Given the description of an element on the screen output the (x, y) to click on. 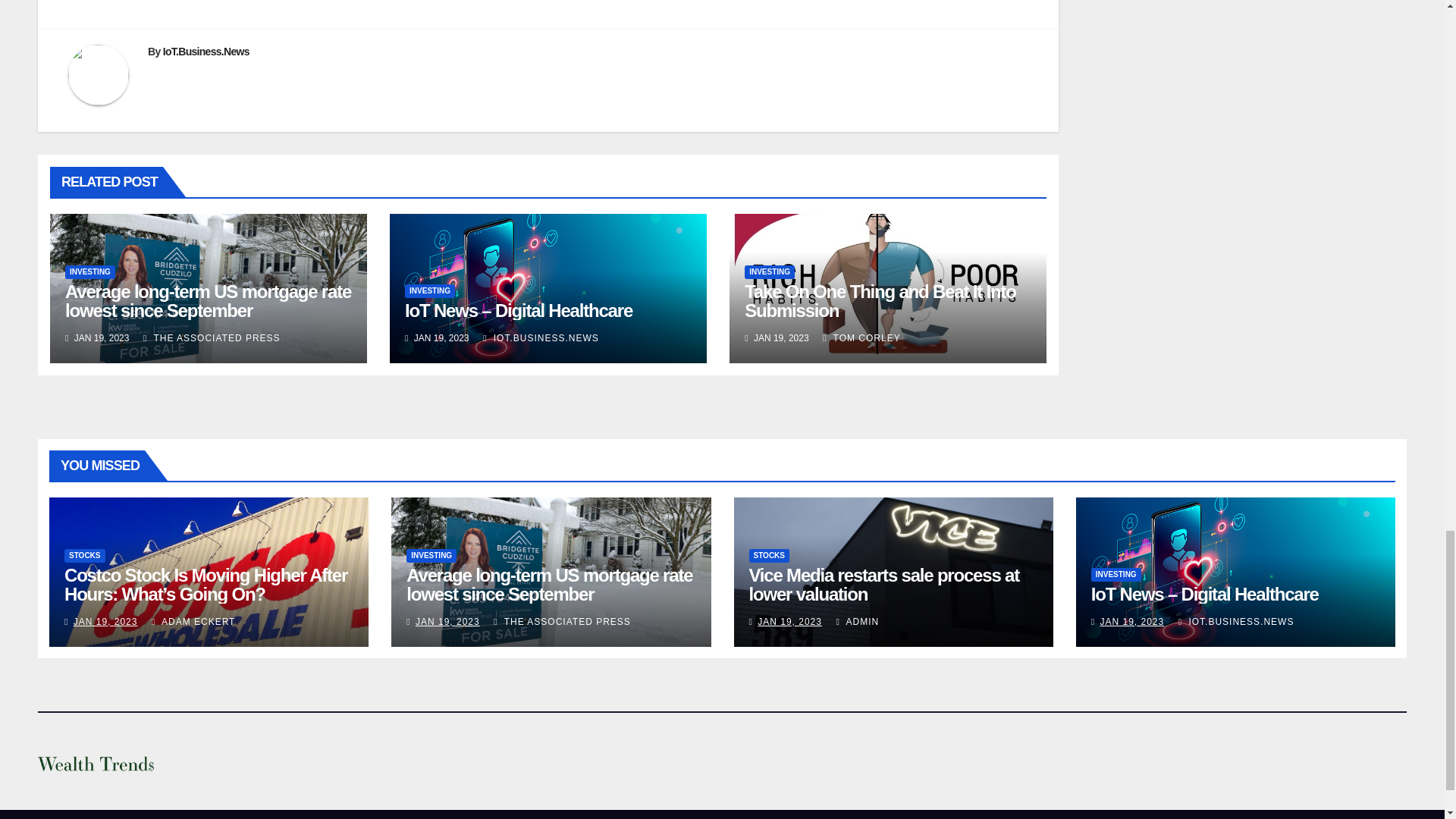
Permalink to: Take On One Thing and Beat It Into Submission (879, 301)
INVESTING (429, 291)
IoT.Business.News (205, 51)
STOCKS (84, 555)
IOT.BUSINESS.NEWS (540, 337)
THE ASSOCIATED PRESS (211, 337)
INVESTING (90, 272)
Take On One Thing and Beat It Into Submission (879, 301)
INVESTING (769, 272)
